Given the description of an element on the screen output the (x, y) to click on. 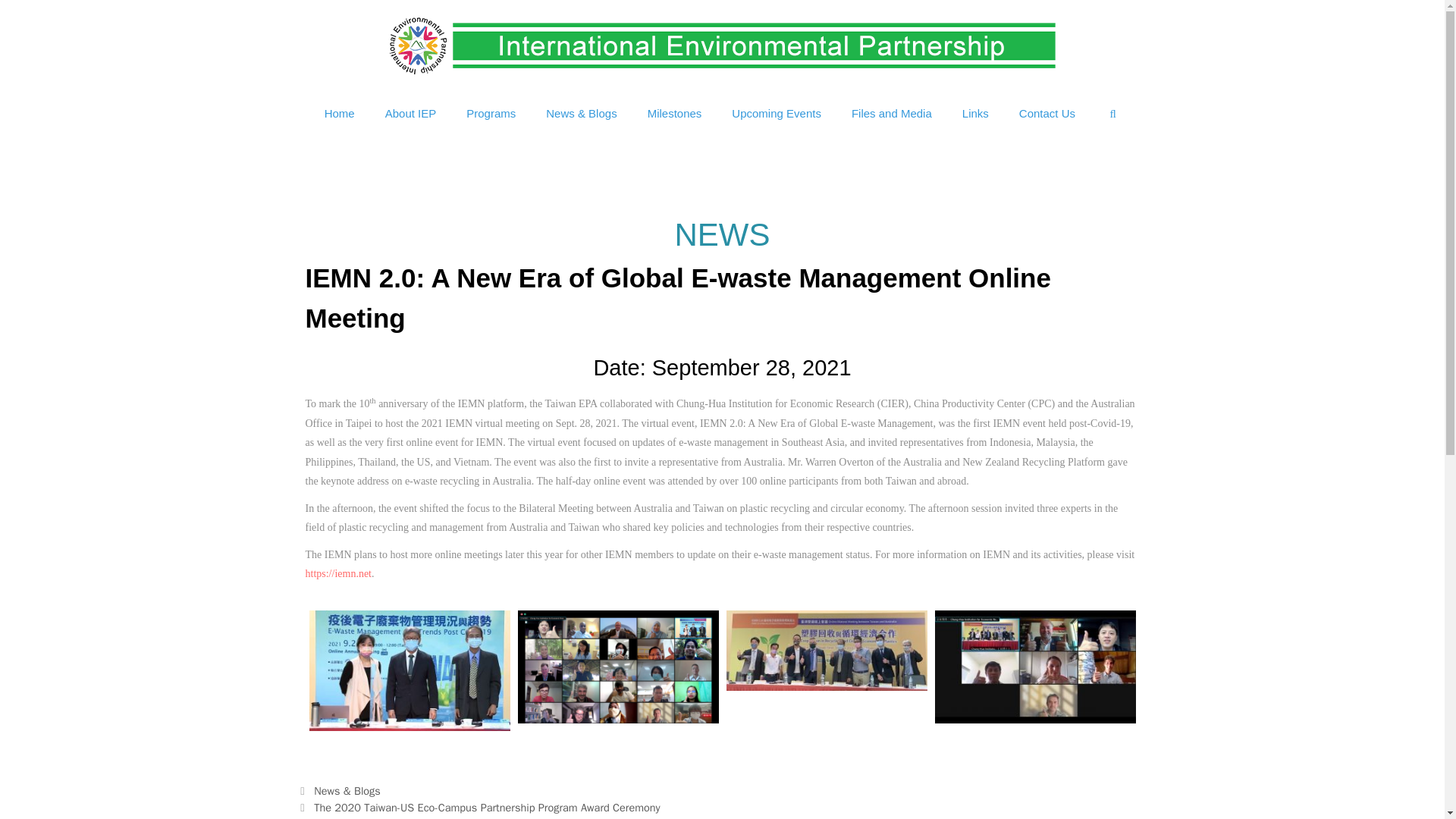
Contact Us (1047, 113)
Upcoming Events (775, 113)
About IEP (410, 113)
Links (975, 113)
Programs (491, 113)
Milestones (674, 113)
IEP (721, 45)
IEP (721, 44)
Home (338, 113)
Files and Media (891, 113)
